Given the description of an element on the screen output the (x, y) to click on. 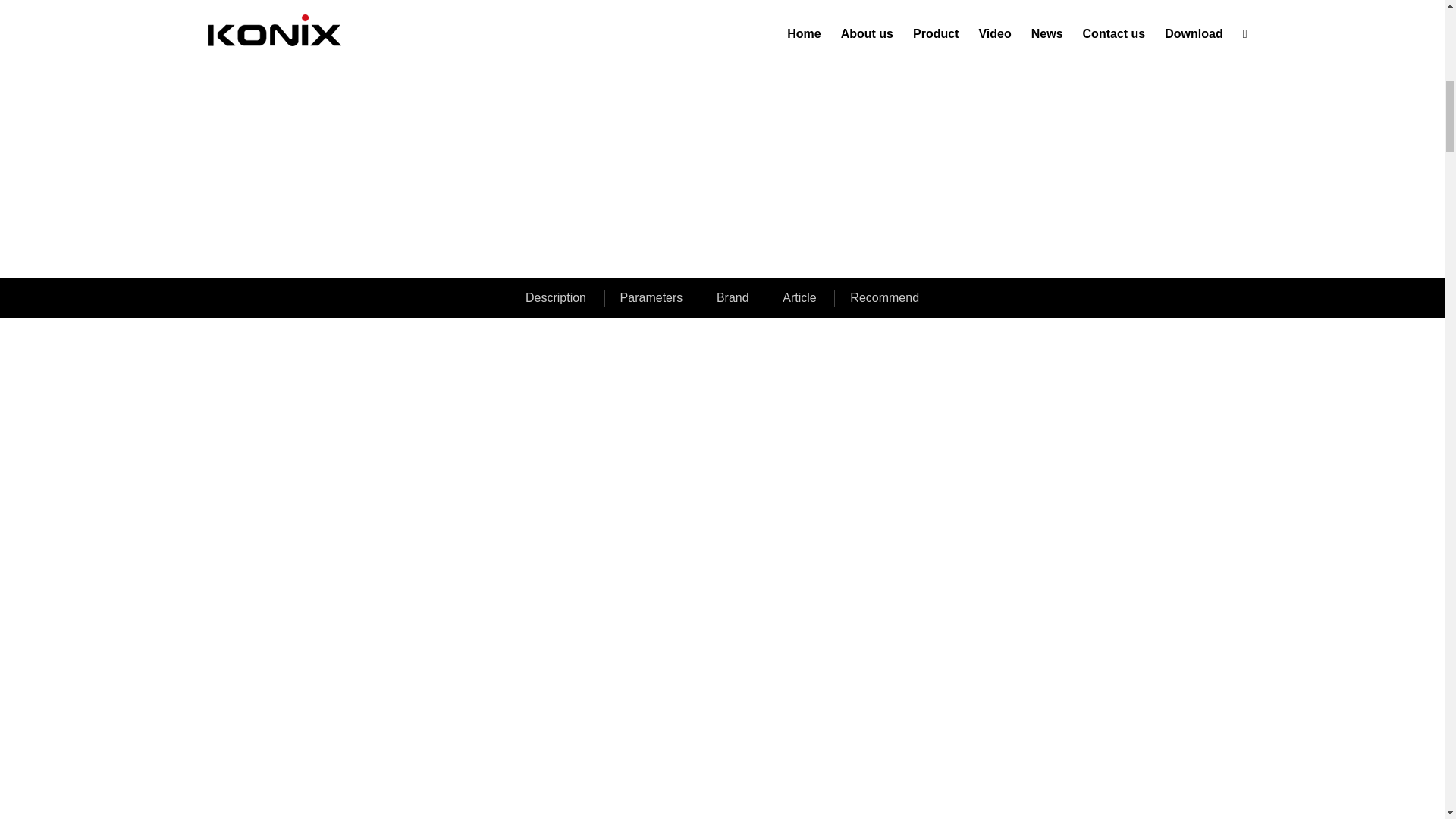
Brand (732, 297)
Article (799, 297)
Parameters (651, 297)
Description (556, 297)
